Given the description of an element on the screen output the (x, y) to click on. 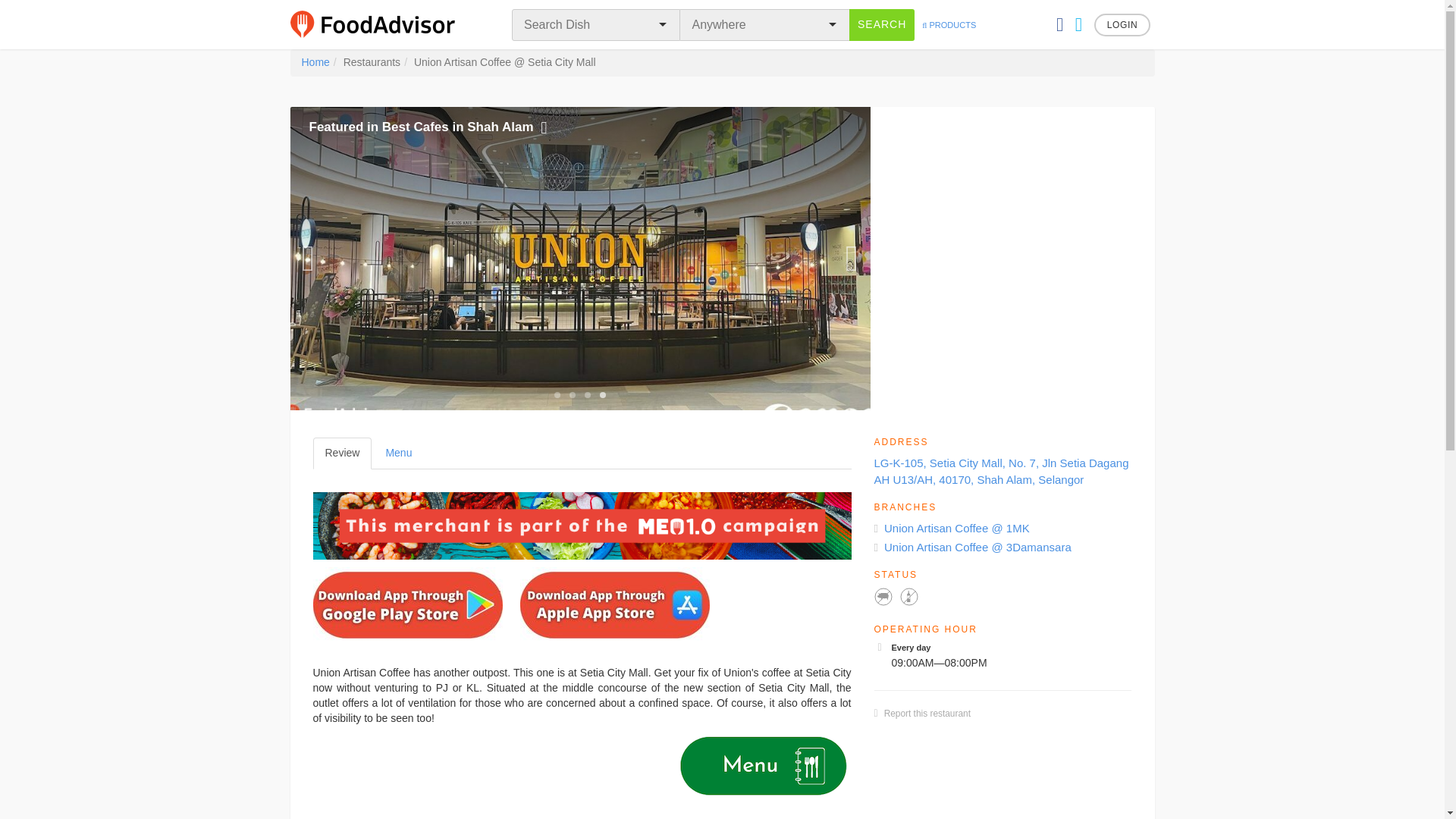
SEARCH (881, 24)
3 (587, 394)
Menu (397, 453)
Home (315, 61)
Report this restaurant (927, 713)
Review (342, 453)
PRODUCTS (948, 24)
Foodadvisor.my (381, 24)
2 (571, 394)
LOGIN (1122, 24)
4 (602, 394)
1 (557, 394)
